Given the description of an element on the screen output the (x, y) to click on. 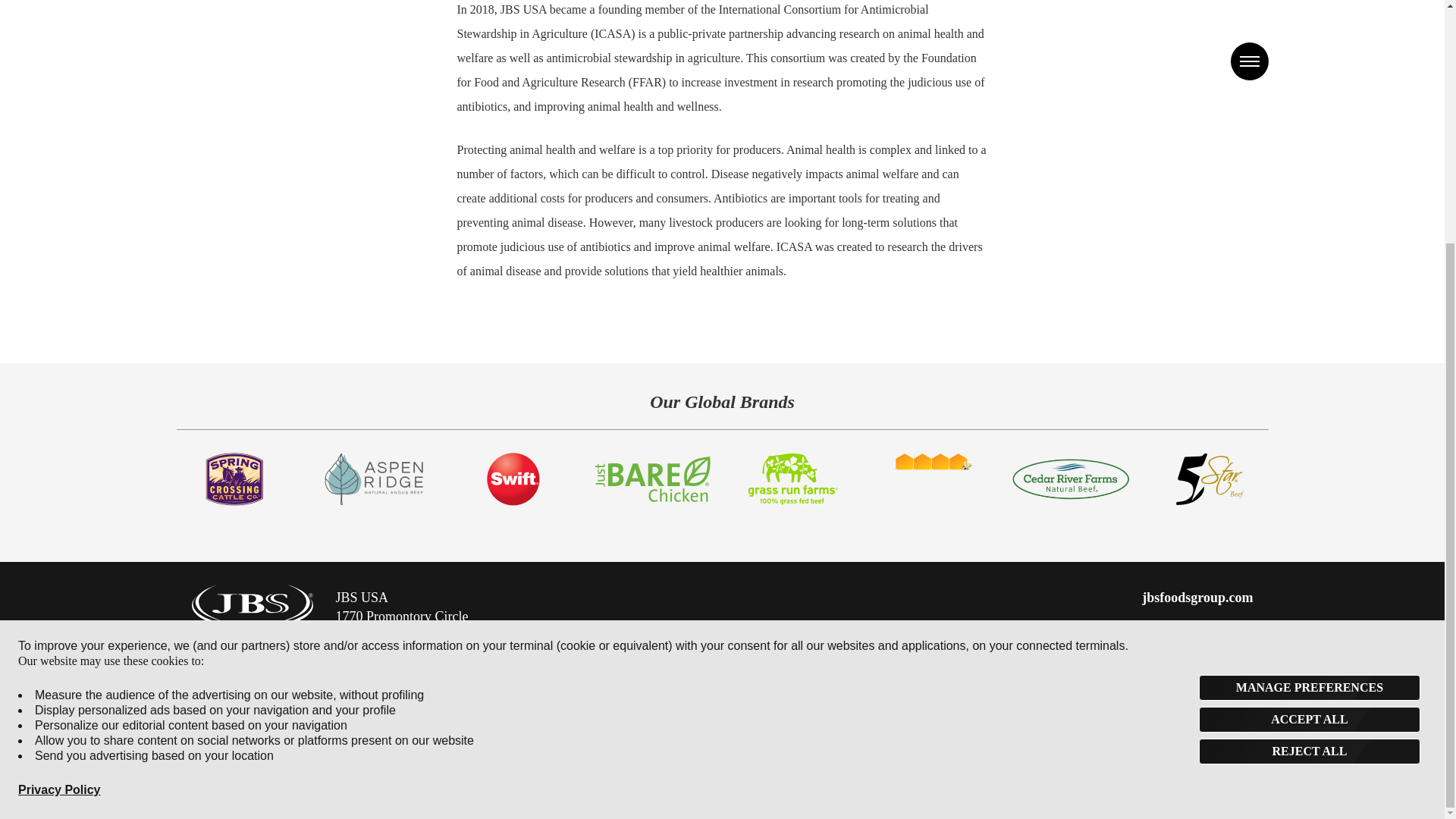
Search (1040, 640)
Privacy Policy (58, 452)
MANAGE PREFERENCES (1309, 350)
ACCEPT ALL (1309, 381)
REJECT ALL (1309, 413)
